Given the description of an element on the screen output the (x, y) to click on. 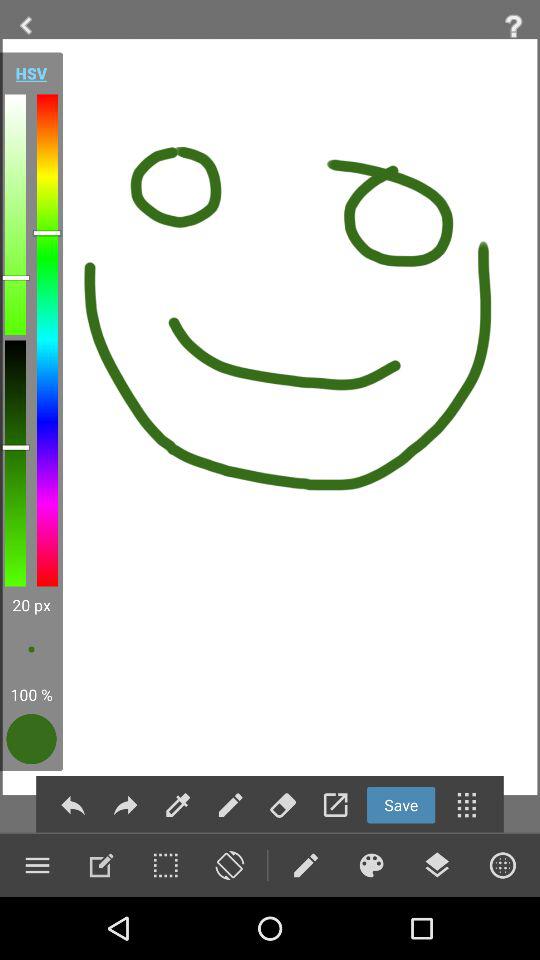
settings option (37, 865)
